Given the description of an element on the screen output the (x, y) to click on. 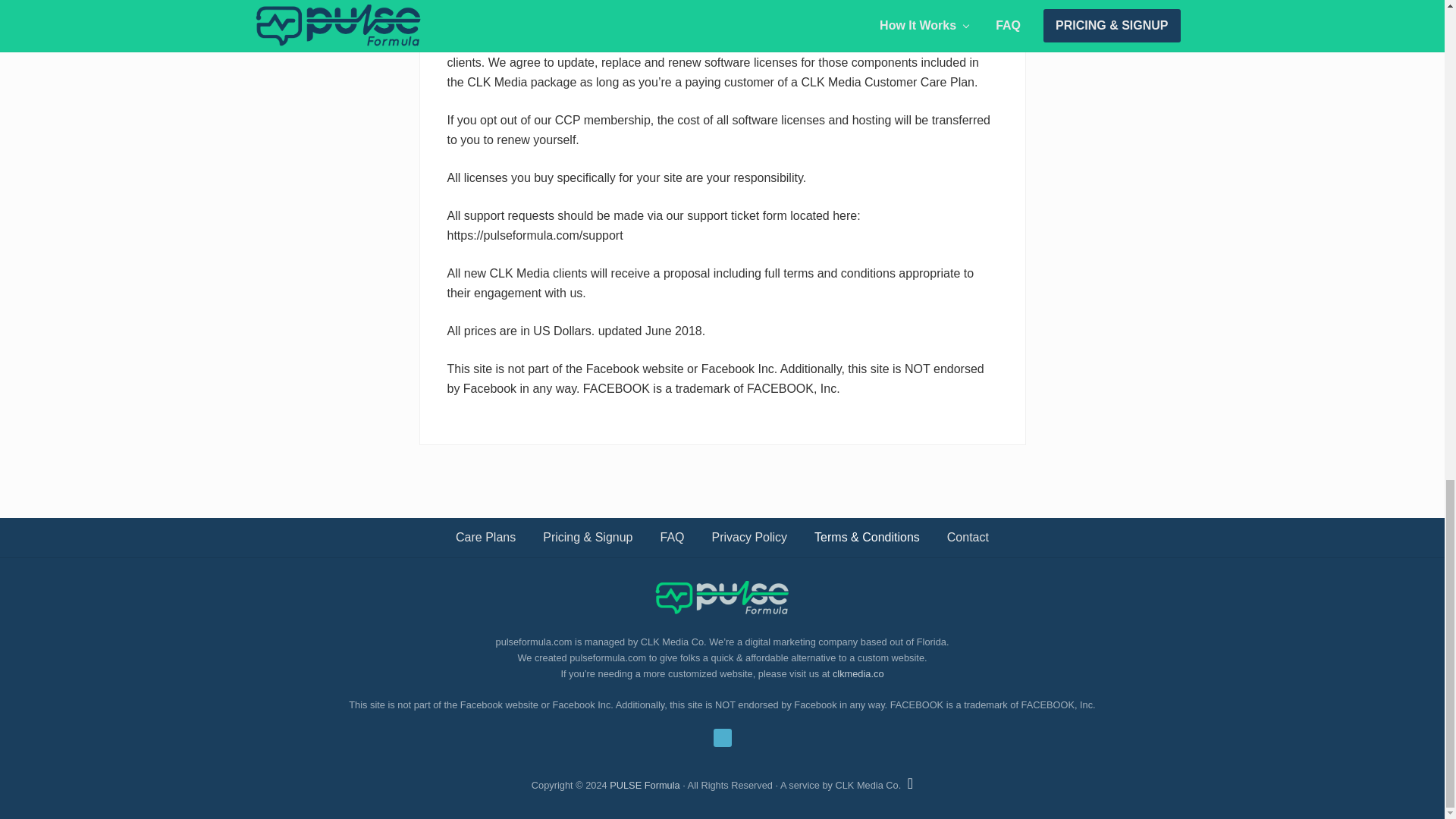
Contact (968, 537)
clkmedia.co (857, 673)
PULSE Formula (644, 785)
PULSE Formula (644, 785)
Privacy Policy (750, 537)
Care Plans (485, 537)
FAQ (671, 537)
